Given the description of an element on the screen output the (x, y) to click on. 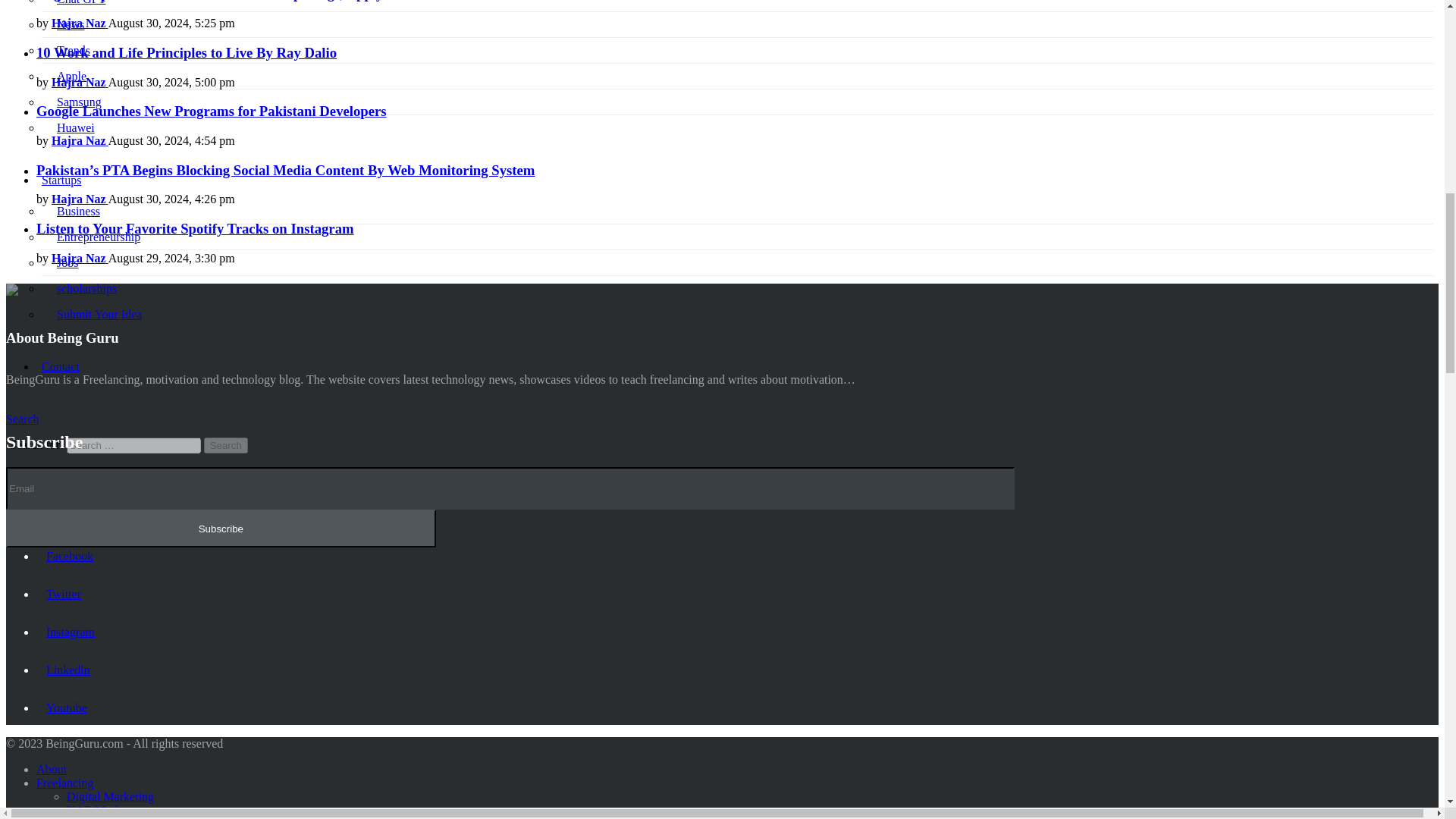
Posts by Hajra Naz (78, 22)
Search (225, 445)
Search (225, 445)
Subscribe (220, 528)
Posts by Hajra Naz (78, 198)
Posts by Hajra Naz (78, 82)
Posts by Hajra Naz (78, 140)
Startups (61, 179)
Posts by Hajra Naz (78, 257)
Search for: (133, 445)
